Given the description of an element on the screen output the (x, y) to click on. 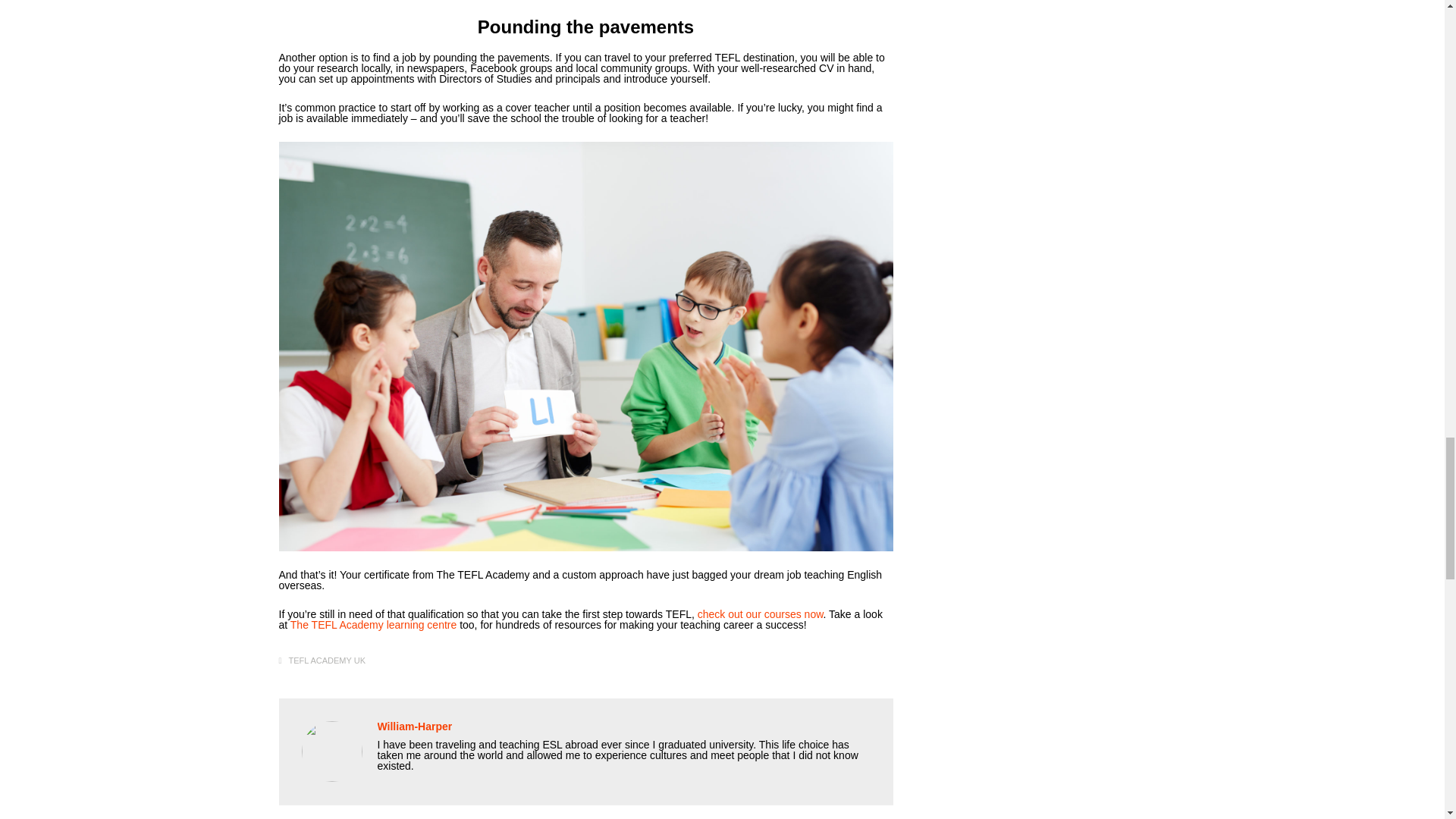
TEFL ACADEMY UK (326, 660)
William-Harper (414, 726)
check out our courses now (760, 613)
The TEFL Academy learning centre (373, 624)
